Given the description of an element on the screen output the (x, y) to click on. 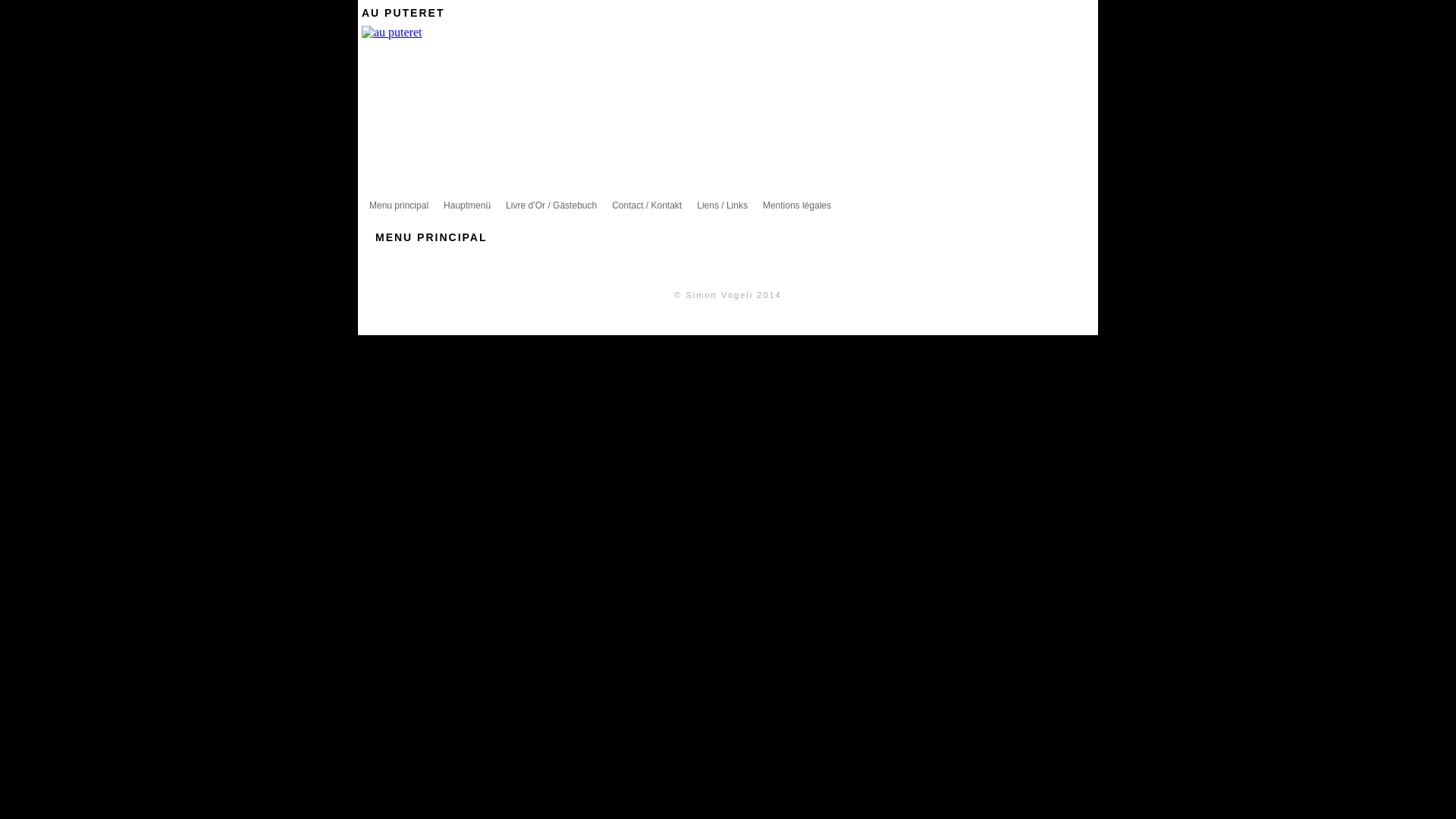
AU PUTERET Element type: text (402, 12)
Contact / Kontakt Element type: text (646, 205)
Liens / Links Element type: text (722, 205)
au puteret Element type: hover (391, 31)
Menu principal Element type: text (398, 205)
